Given the description of an element on the screen output the (x, y) to click on. 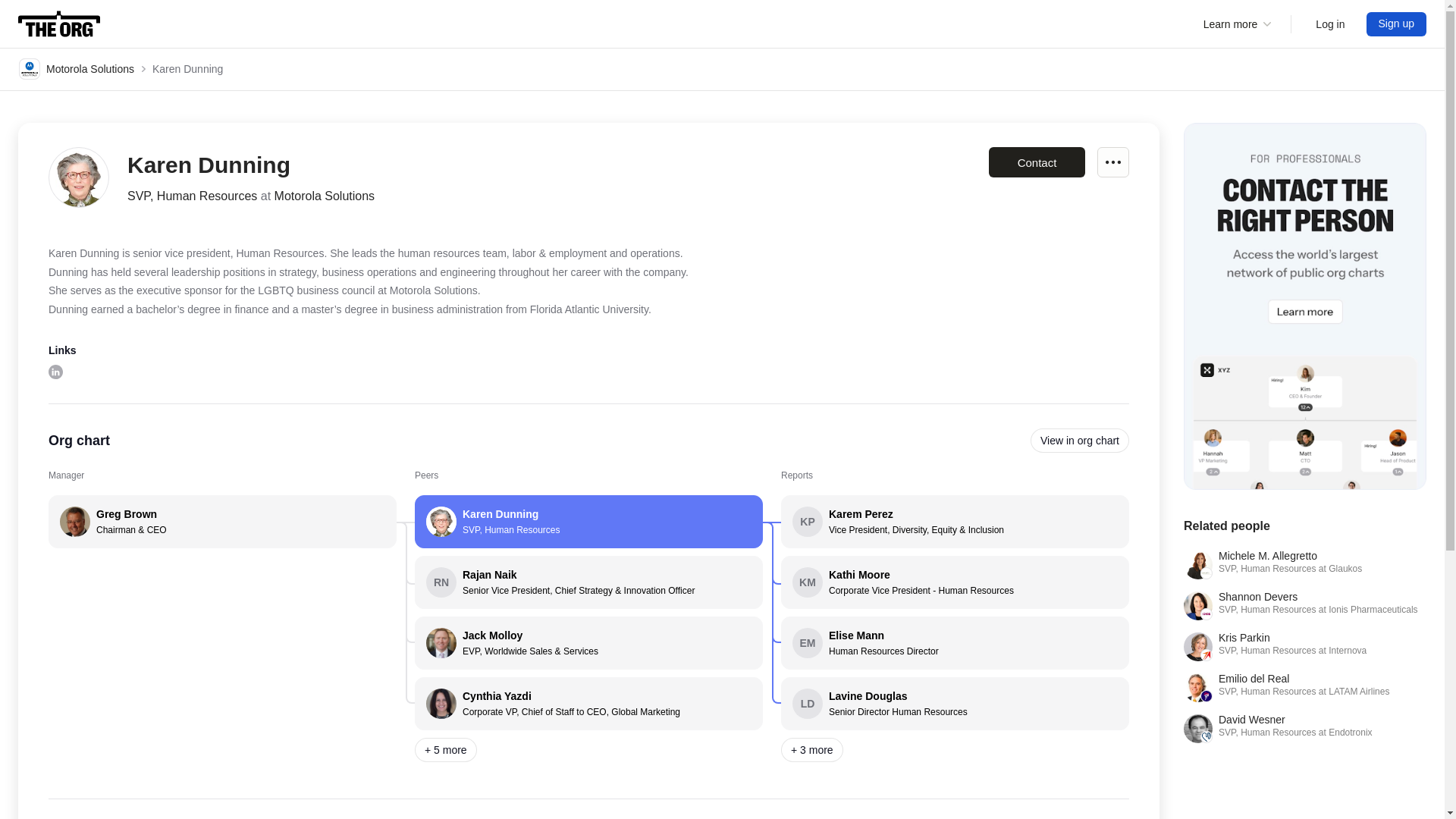
Join, edit and report menu (1304, 687)
View in org chart (1113, 162)
Contact (1079, 440)
Log in to The Org (1036, 162)
Sign up (1329, 24)
The Org Home (1304, 728)
Sign up to The Org (588, 521)
